Given the description of an element on the screen output the (x, y) to click on. 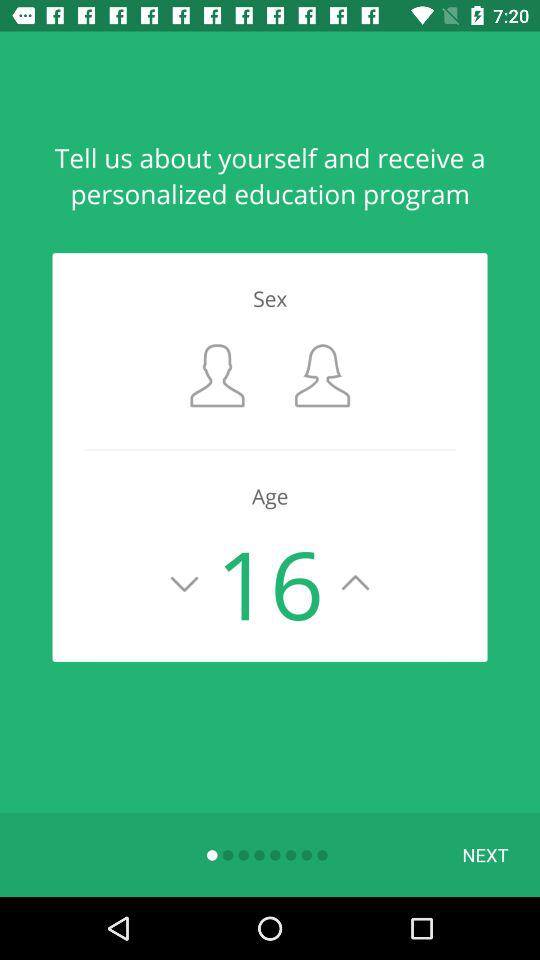
male option button (217, 375)
